Given the description of an element on the screen output the (x, y) to click on. 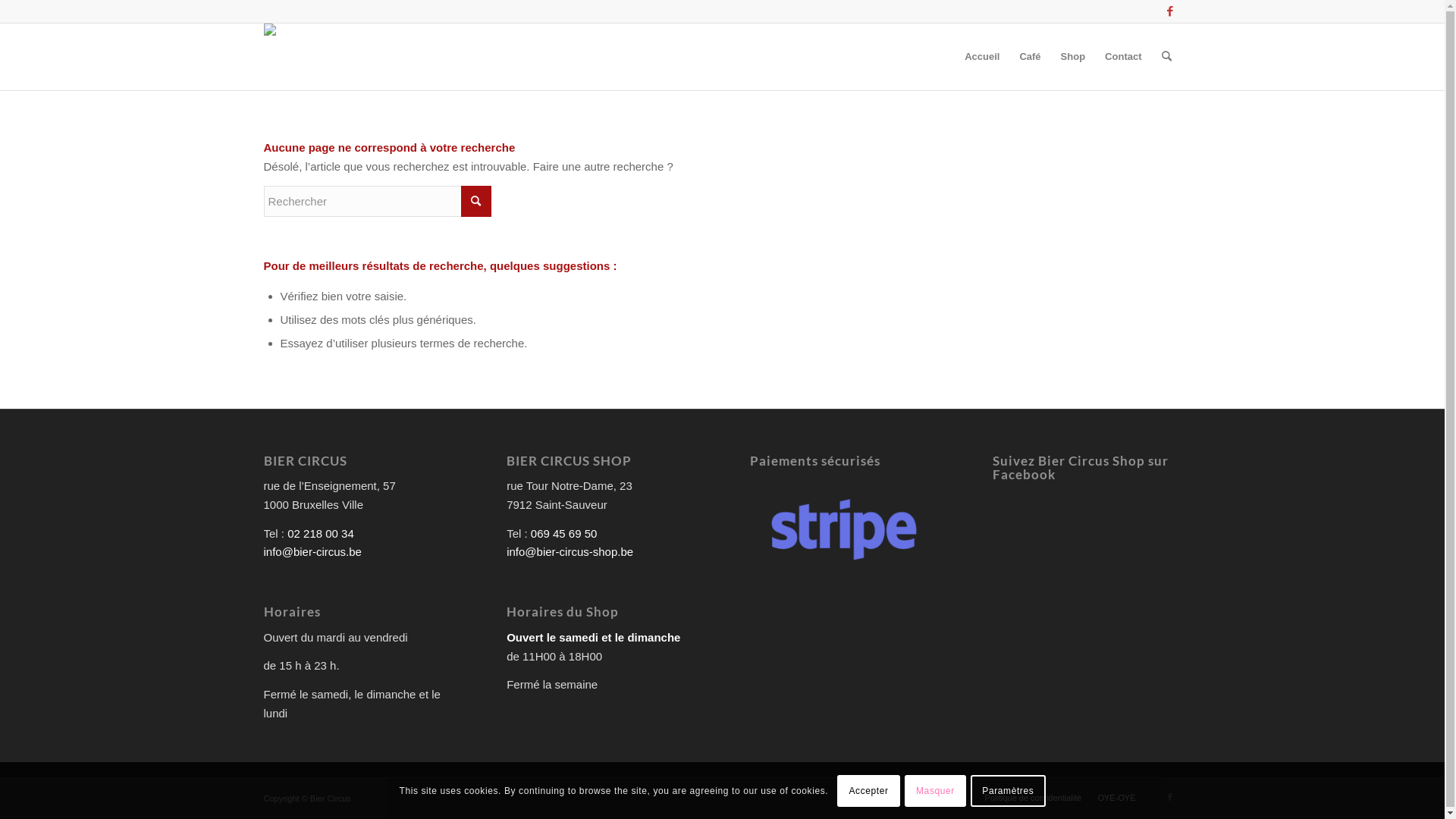
Contact Element type: text (1123, 56)
Accepter Element type: text (868, 790)
Accueil Element type: text (981, 56)
Facebook Element type: hover (1169, 11)
02 218 00 34 Element type: text (320, 533)
069 45 69 50 Element type: text (563, 533)
info@bier-circus.be Element type: text (312, 551)
Facebook Element type: hover (1169, 796)
info@bier-circus-shop.be Element type: text (569, 551)
Masquer Element type: text (935, 790)
Shop Element type: text (1073, 56)
